Given the description of an element on the screen output the (x, y) to click on. 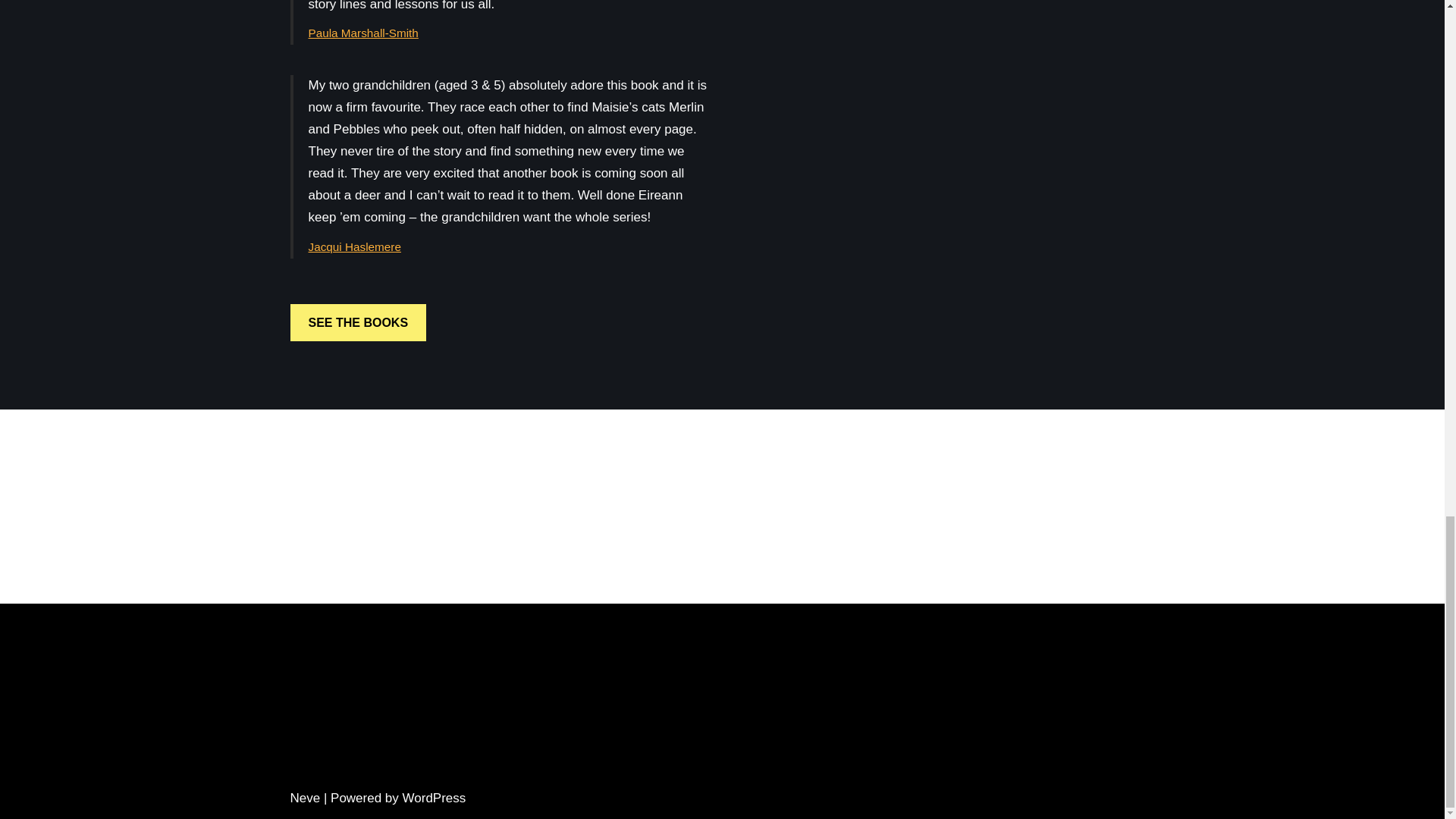
Neve (304, 798)
SEE THE BOOKS (357, 322)
Paula Marshall-Smith (362, 32)
WordPress (434, 798)
Jacqui Haslemere (353, 246)
